Given the description of an element on the screen output the (x, y) to click on. 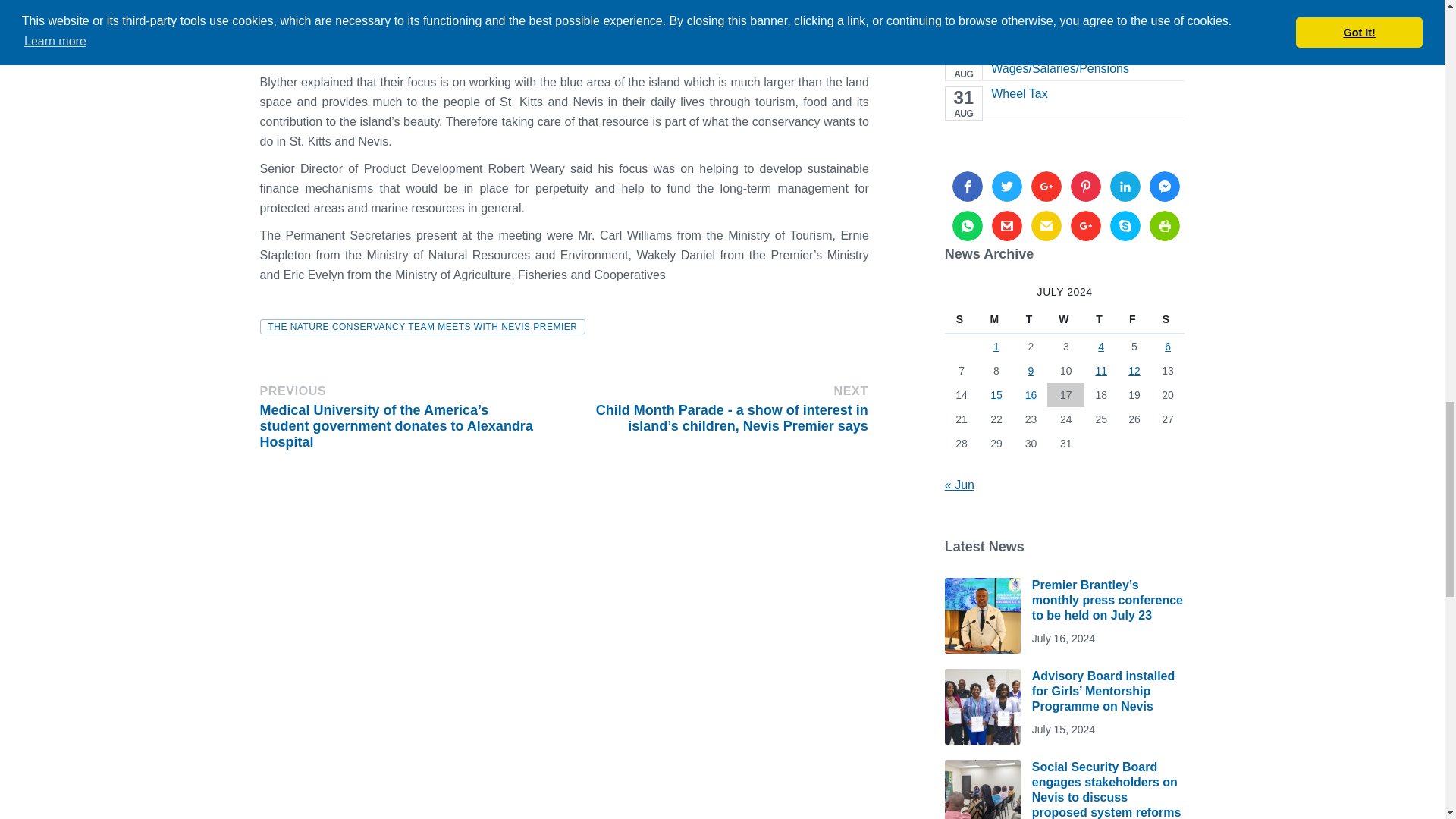
Sunday (961, 319)
